Given the description of an element on the screen output the (x, y) to click on. 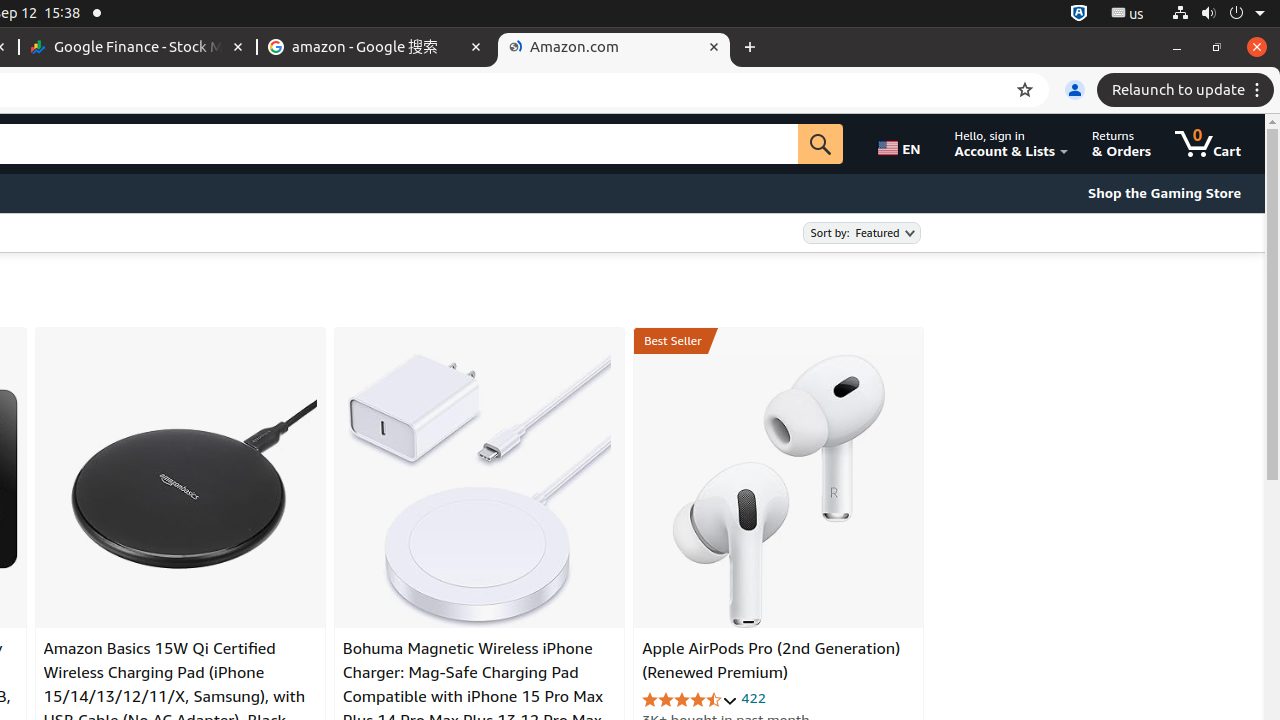
Apple AirPods Pro (2nd Generation) (Renewed Premium) Element type: link (779, 491)
